Given the description of an element on the screen output the (x, y) to click on. 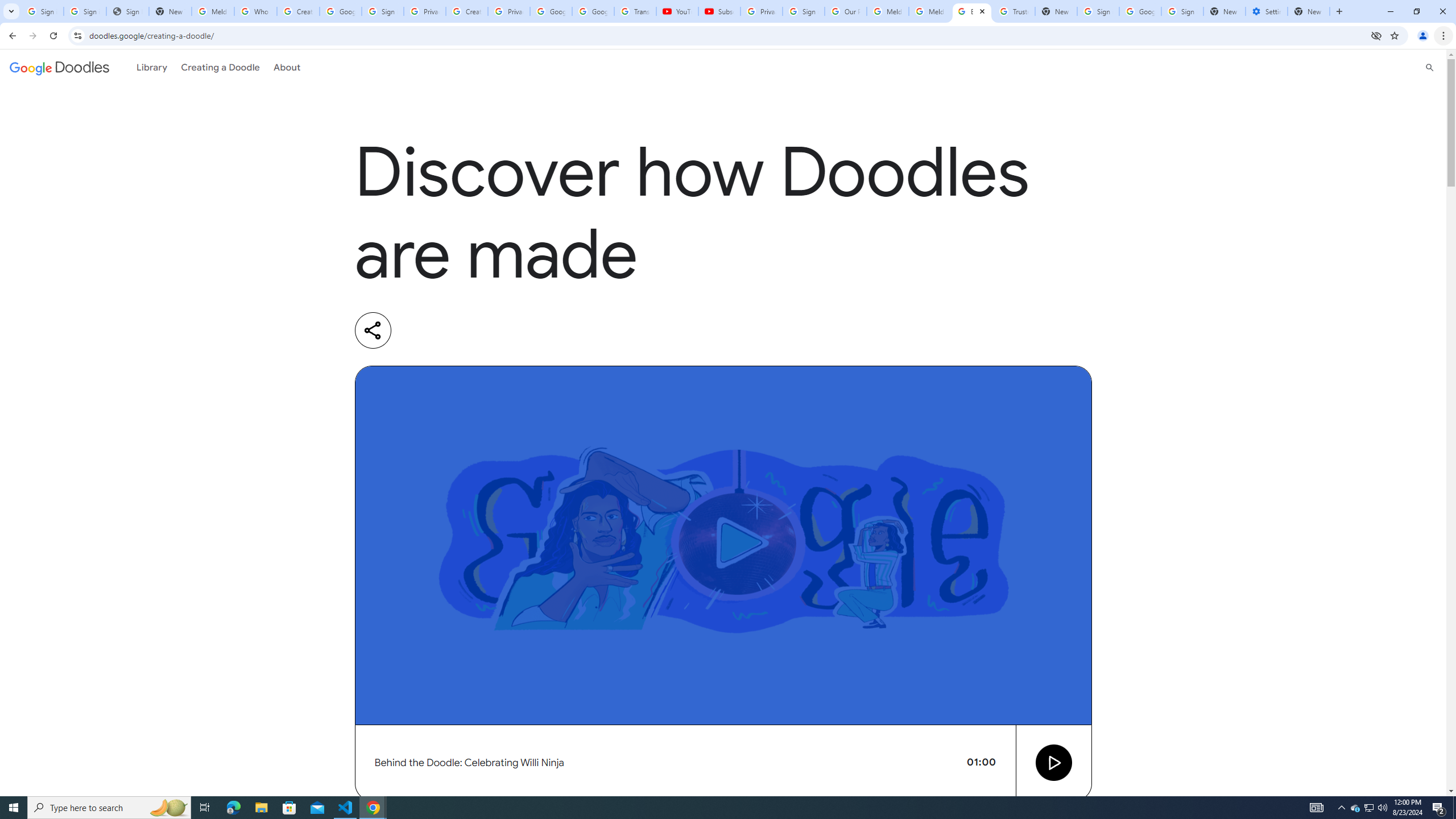
Video preview image (722, 545)
Sign in - Google Accounts (382, 11)
Third-party cookies blocked (1376, 35)
Sign in - Google Accounts (42, 11)
Sign in - Google Accounts (1182, 11)
Video preview image (723, 545)
Trusted Information and Content - Google Safety Center (1013, 11)
Sign in - Google Accounts (85, 11)
